Given the description of an element on the screen output the (x, y) to click on. 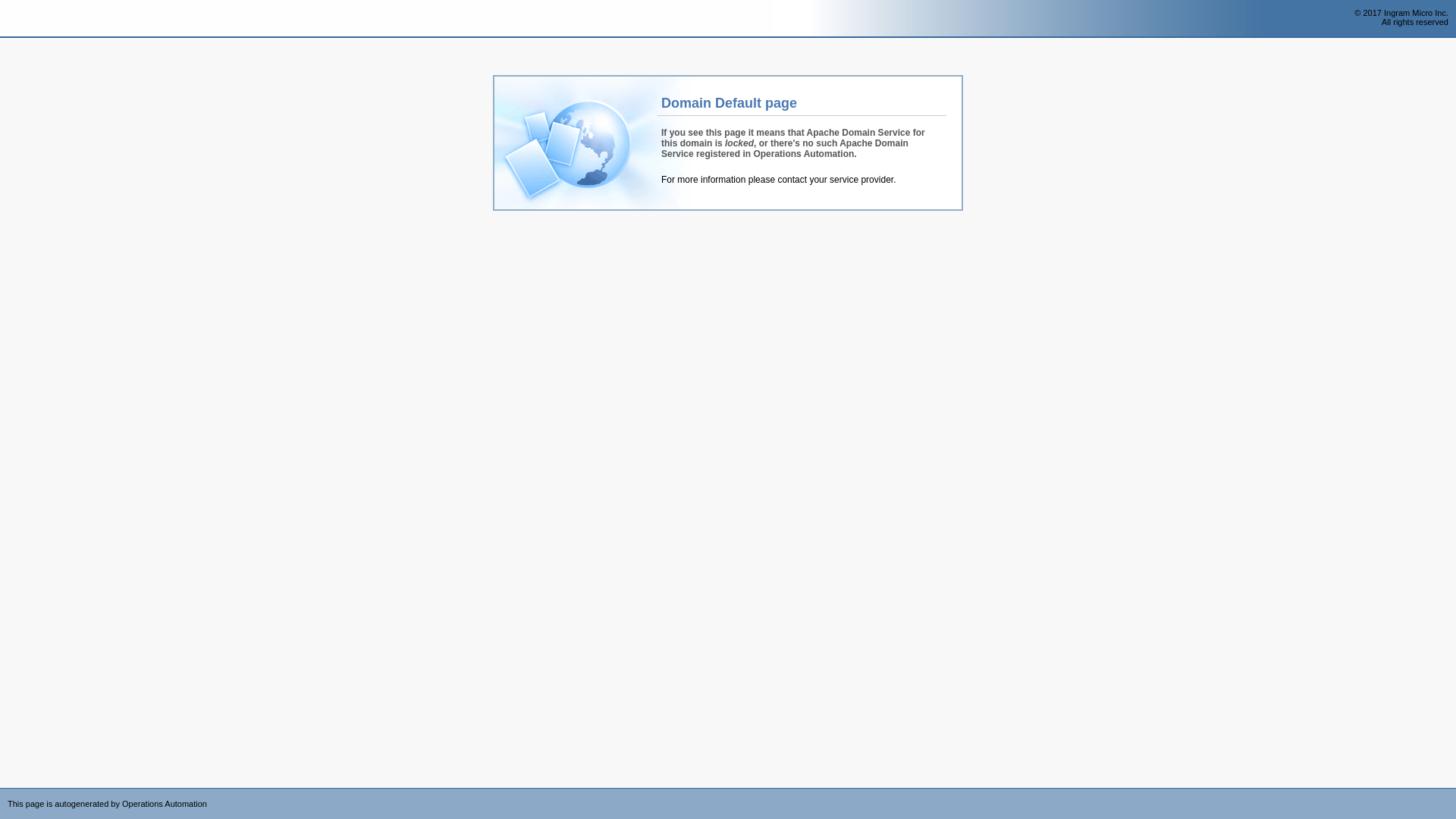
Operations Automation Element type: text (39, 18)
Powered by CloudBlue Commerce Element type: hover (1447, 792)
